Given the description of an element on the screen output the (x, y) to click on. 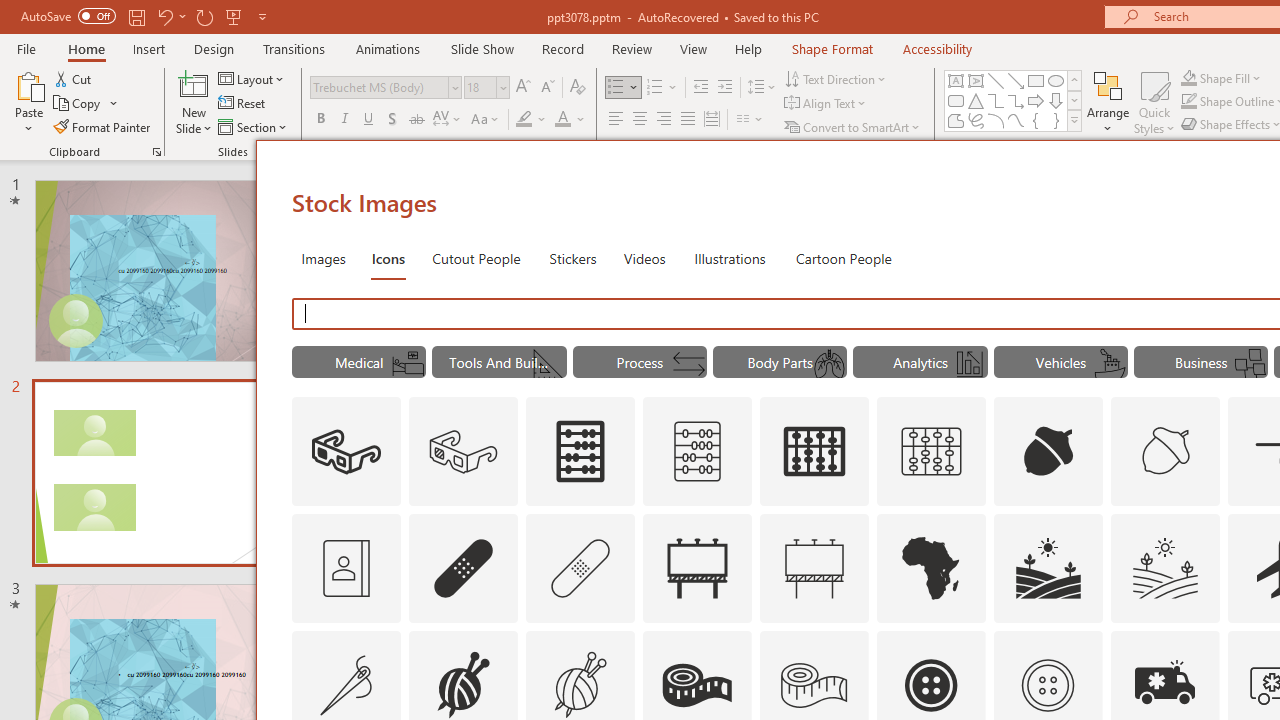
"Body Parts" Icons. (779, 362)
"Process" Icons. (639, 362)
AutomationID: Icons_BarGraphUpwardTrend_RTL_M (970, 364)
AutomationID: Icons_Abacus1 (815, 452)
Thumbnail (1204, 645)
